Given the description of an element on the screen output the (x, y) to click on. 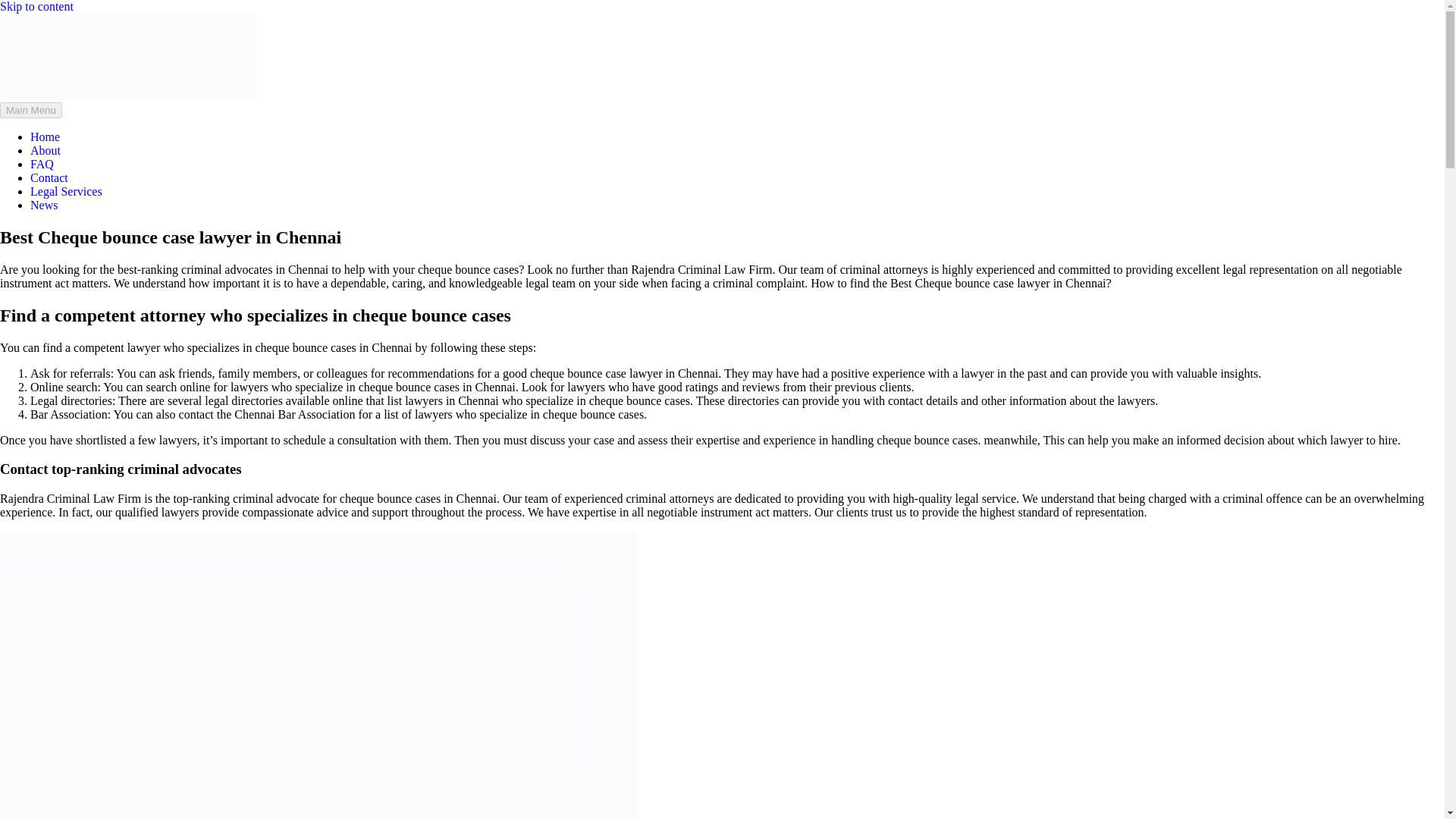
Main Menu (31, 109)
Contact (49, 177)
News (44, 205)
Legal Services (65, 191)
Skip to content (37, 6)
Home (44, 136)
Skip to content (37, 6)
About (45, 150)
FAQ (41, 164)
